Given the description of an element on the screen output the (x, y) to click on. 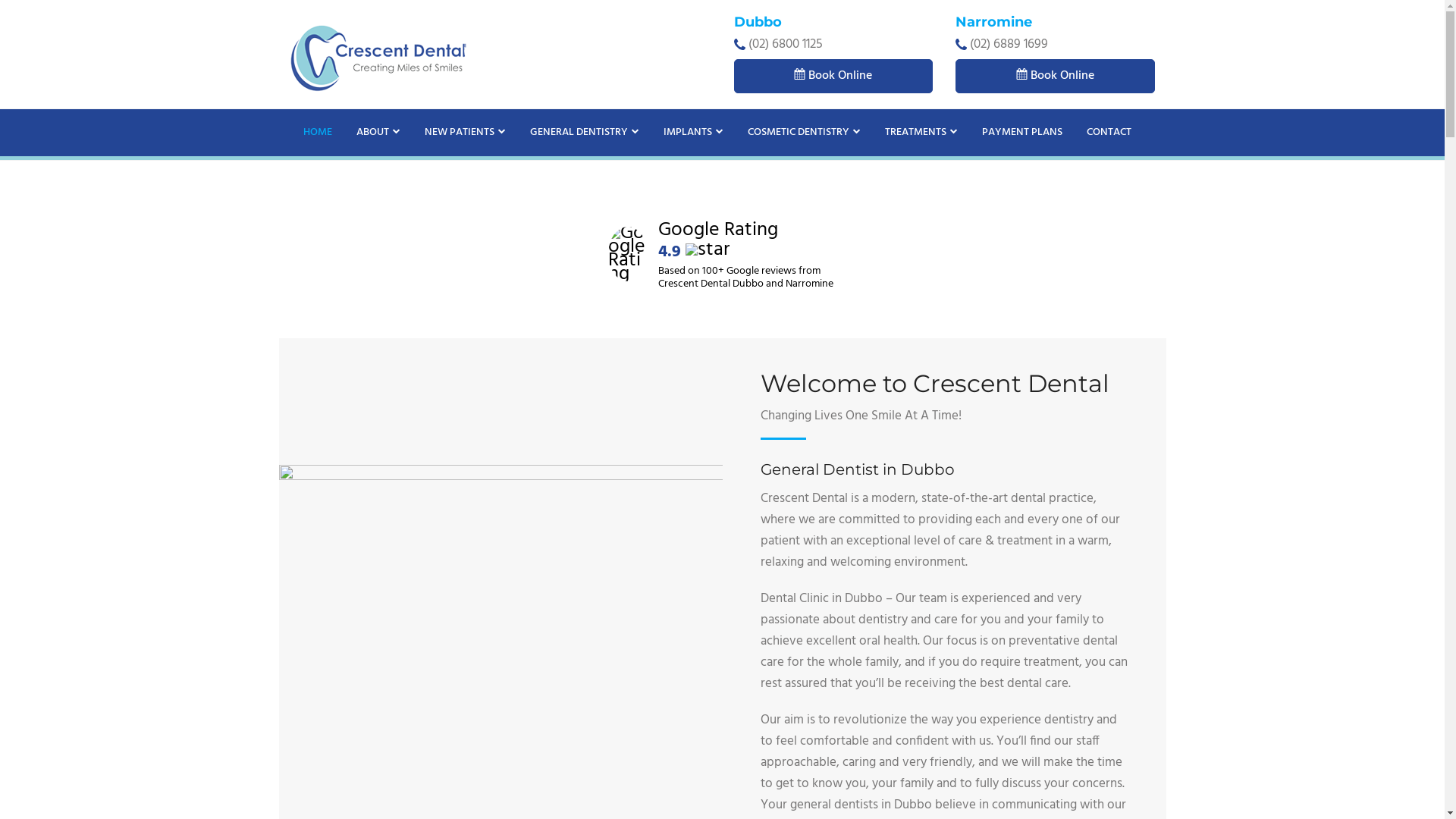
NEW PATIENTS Element type: text (464, 132)
Book Online Element type: text (833, 76)
TREATMENTS Element type: text (920, 132)
GENERAL DENTISTRY Element type: text (583, 132)
(02) 6800 1125 Element type: text (784, 44)
(02) 6889 1699 Element type: text (1008, 44)
COSMETIC DENTISTRY Element type: text (803, 132)
CONTACT Element type: text (1107, 132)
Book Online Element type: text (1054, 76)
HOME Element type: text (317, 132)
PAYMENT PLANS Element type: text (1021, 132)
IMPLANTS Element type: text (692, 132)
ABOUT Element type: text (378, 132)
